Given the description of an element on the screen output the (x, y) to click on. 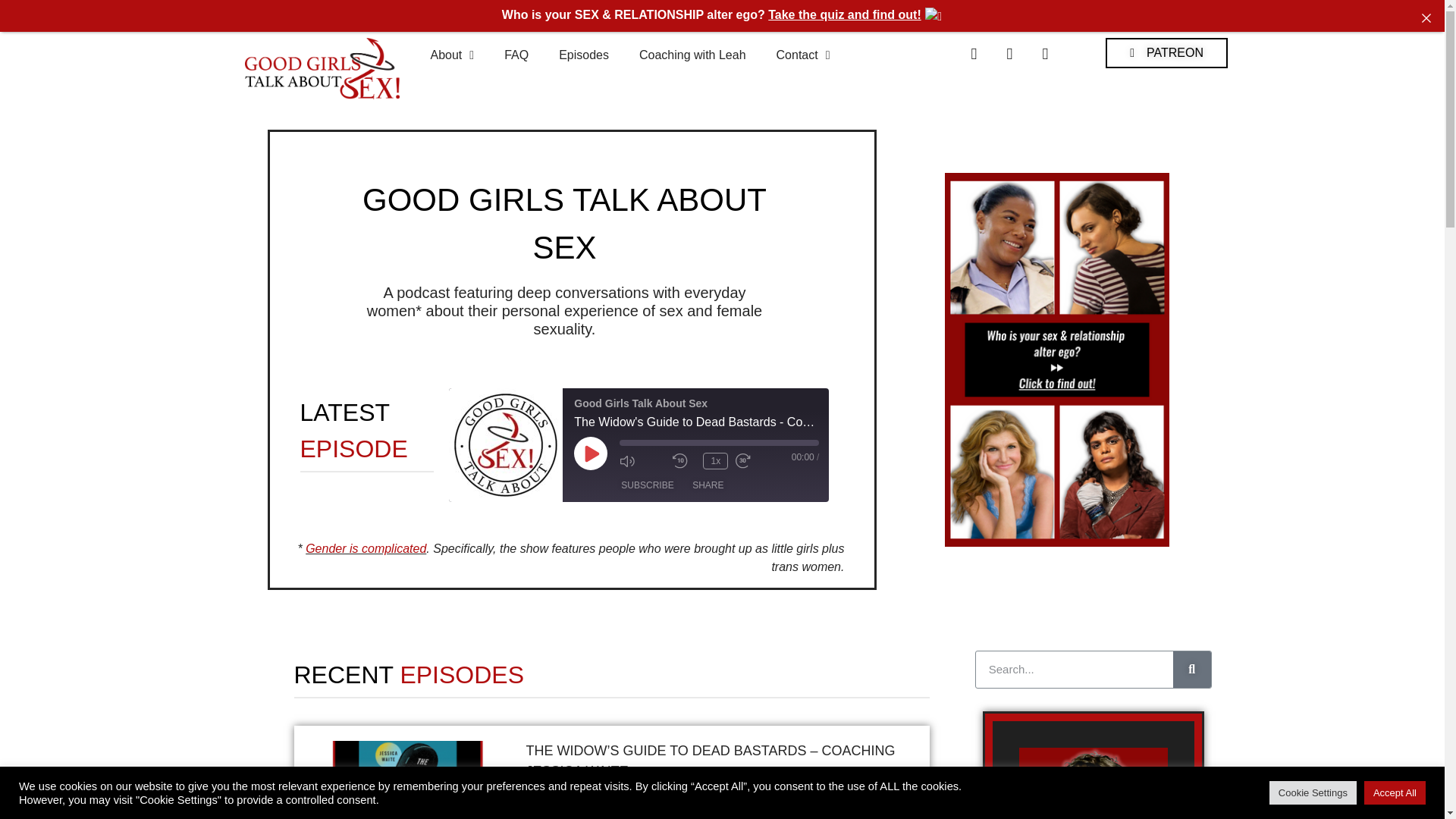
SUBSCRIBE (646, 484)
Coaching with Leah (692, 54)
About (451, 54)
PATREON (1166, 52)
Playback Speed (715, 460)
Play (590, 453)
Episodes (583, 54)
Contact (803, 54)
Subscribe (646, 484)
Rewind 10 seconds (683, 460)
